Given the description of an element on the screen output the (x, y) to click on. 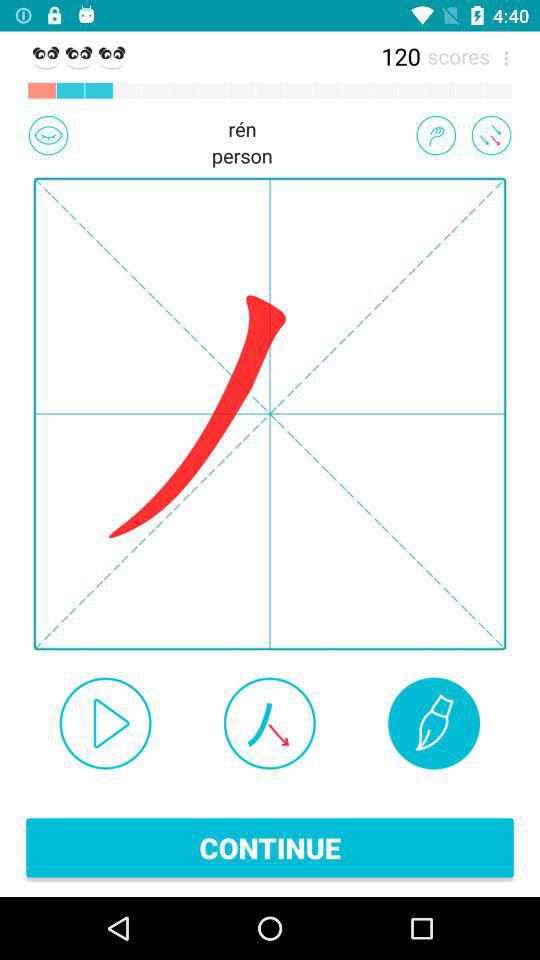
select icon at the bottom right corner (434, 723)
